Given the description of an element on the screen output the (x, y) to click on. 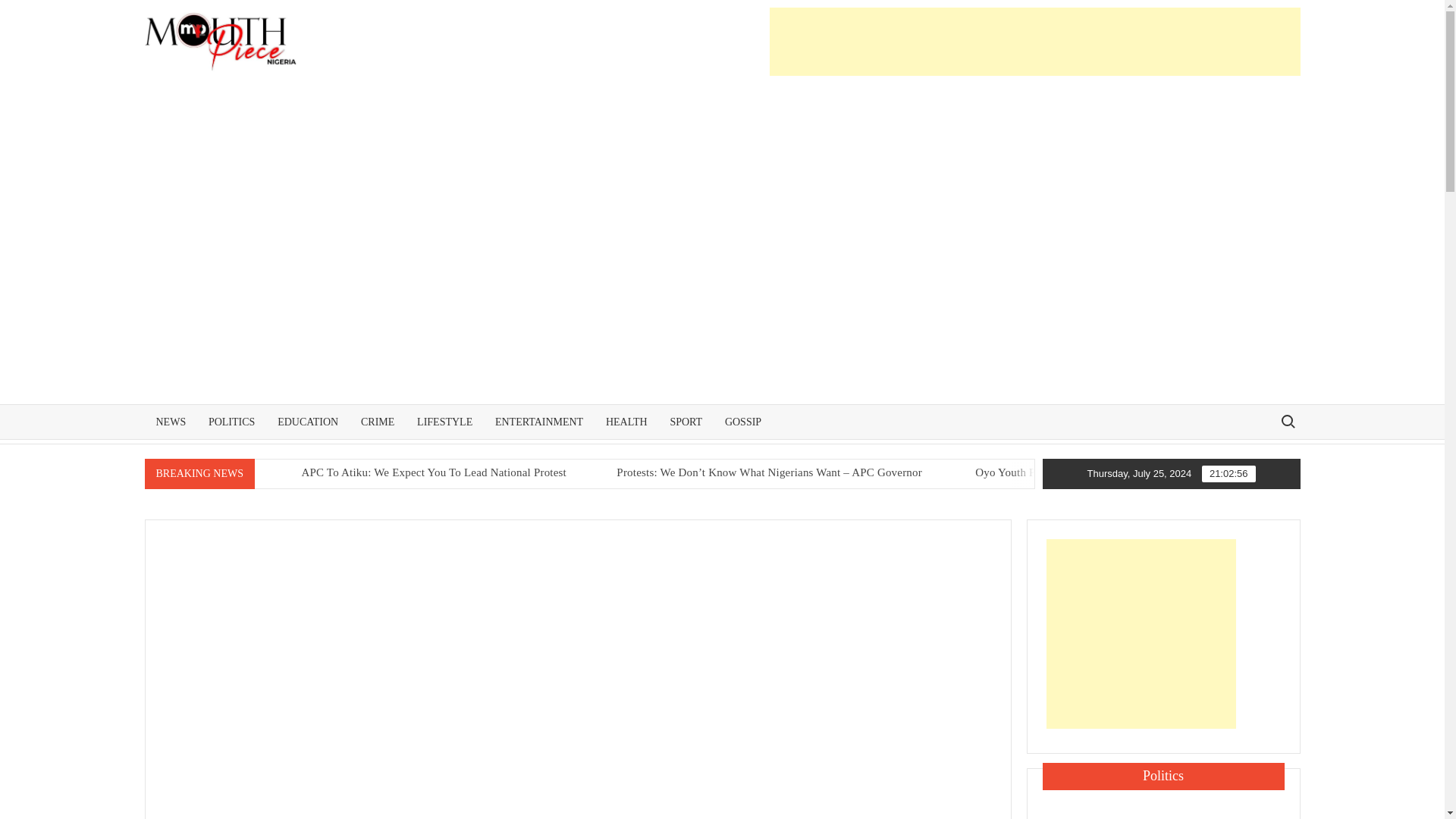
APC To Atiku: We Expect You To Lead National Protest (571, 472)
APC To Atiku: We Expect You To Lead National Protest (421, 472)
APC To Atiku: We Expect You To Lead National Protest (599, 472)
POLITICS (231, 421)
HEALTH (626, 421)
ENTERTAINMENT (538, 421)
LIFESTYLE (444, 421)
EDUCATION (307, 421)
CRIME (377, 421)
MOUTHPIECENGR (440, 60)
SPORT (685, 421)
GOSSIP (743, 421)
NEWS (170, 421)
Search for: (1287, 420)
